Given the description of an element on the screen output the (x, y) to click on. 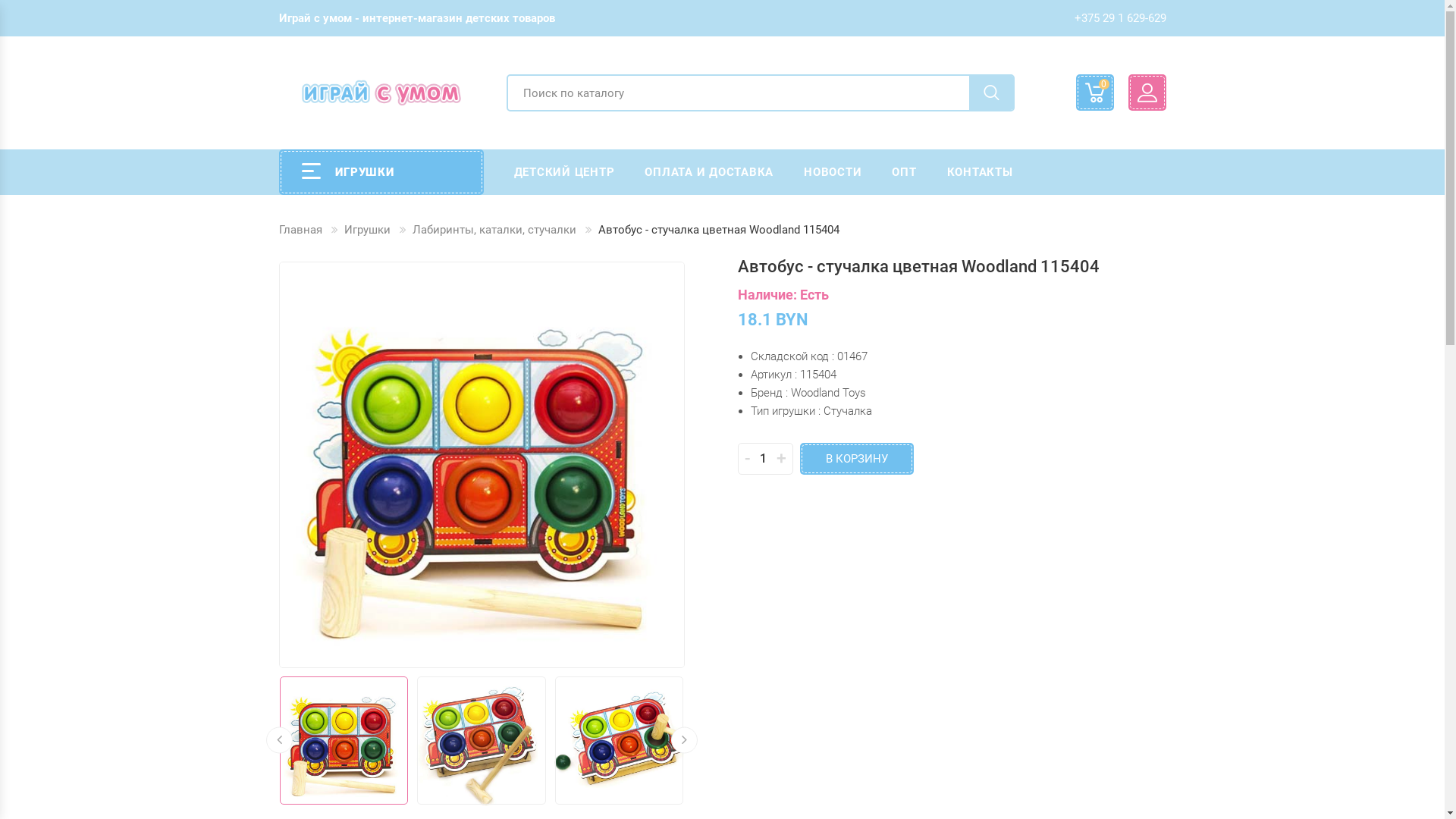
+ Element type: text (781, 458)
- Element type: text (747, 458)
Qty Element type: hover (763, 458)
+375 29 1 629-629 Element type: text (1119, 18)
